Given the description of an element on the screen output the (x, y) to click on. 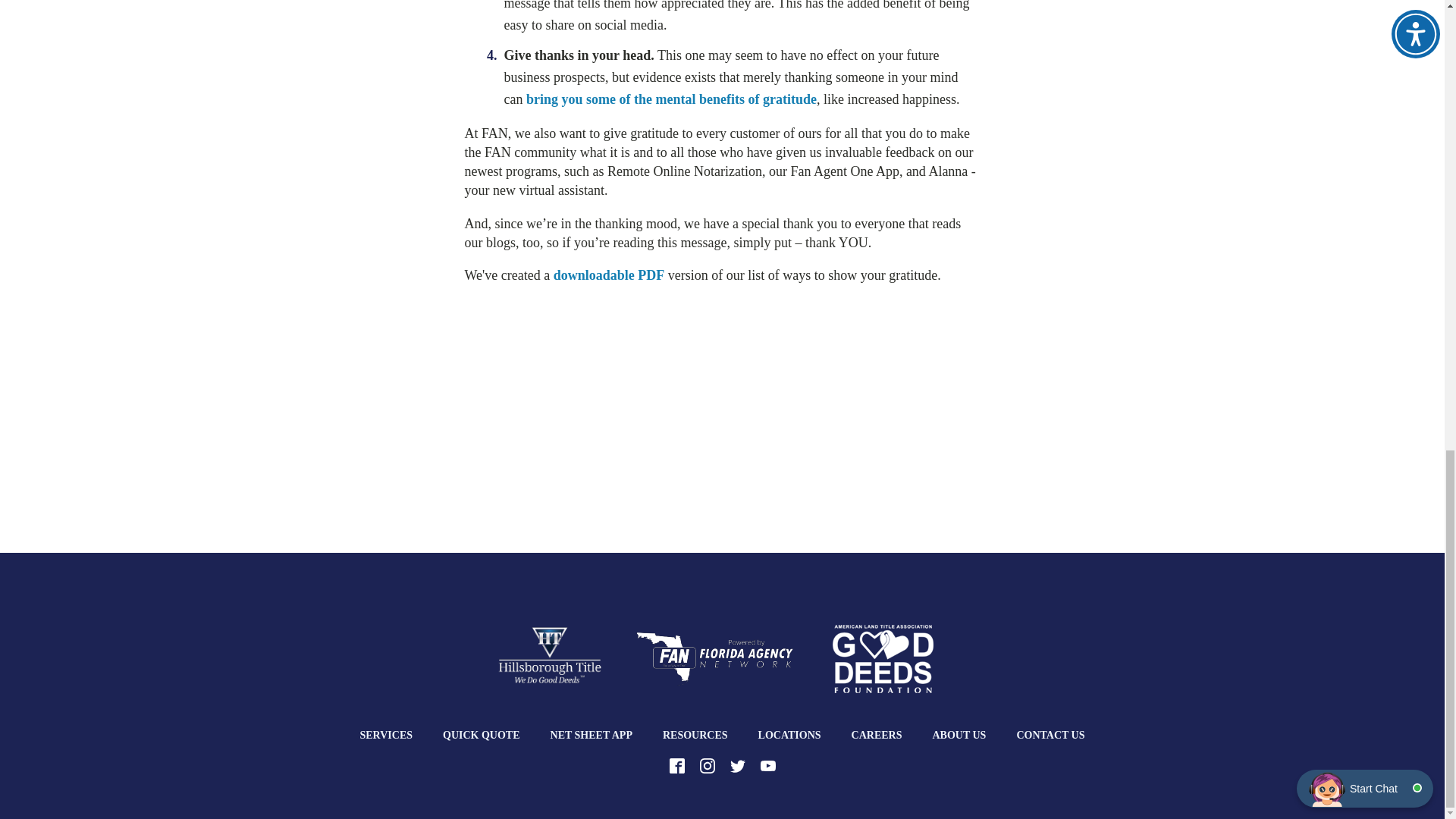
bring you some of the mental benefits of gratitude (670, 99)
downloadable PDF (609, 274)
